Given the description of an element on the screen output the (x, y) to click on. 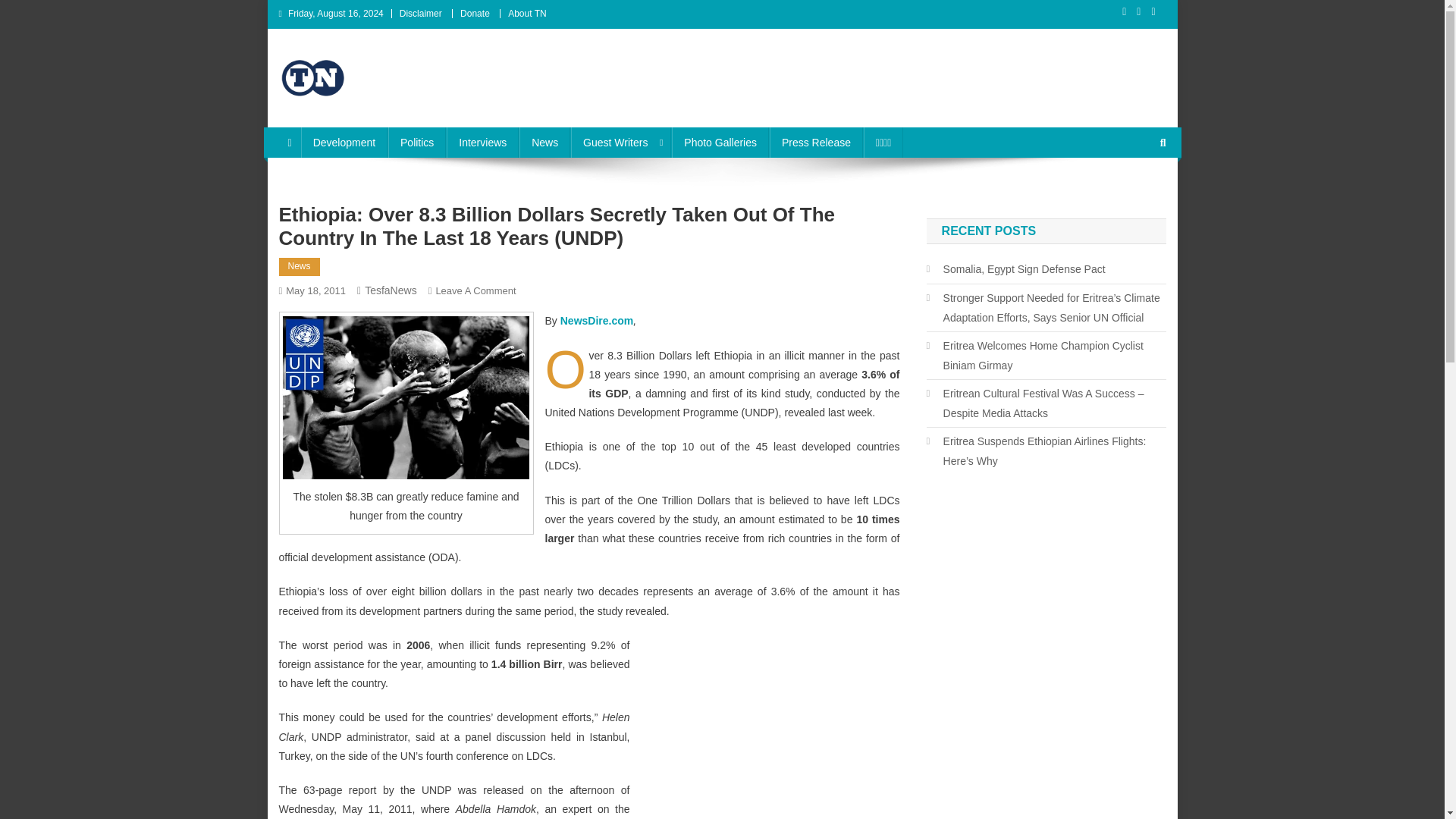
Advertisement (764, 731)
Interviews (482, 142)
TesfaNews (390, 290)
News (544, 142)
Photo Galleries (719, 142)
Politics (416, 142)
Development (344, 142)
Press Release (816, 142)
About TN (527, 13)
Disclaimer (420, 13)
